Given the description of an element on the screen output the (x, y) to click on. 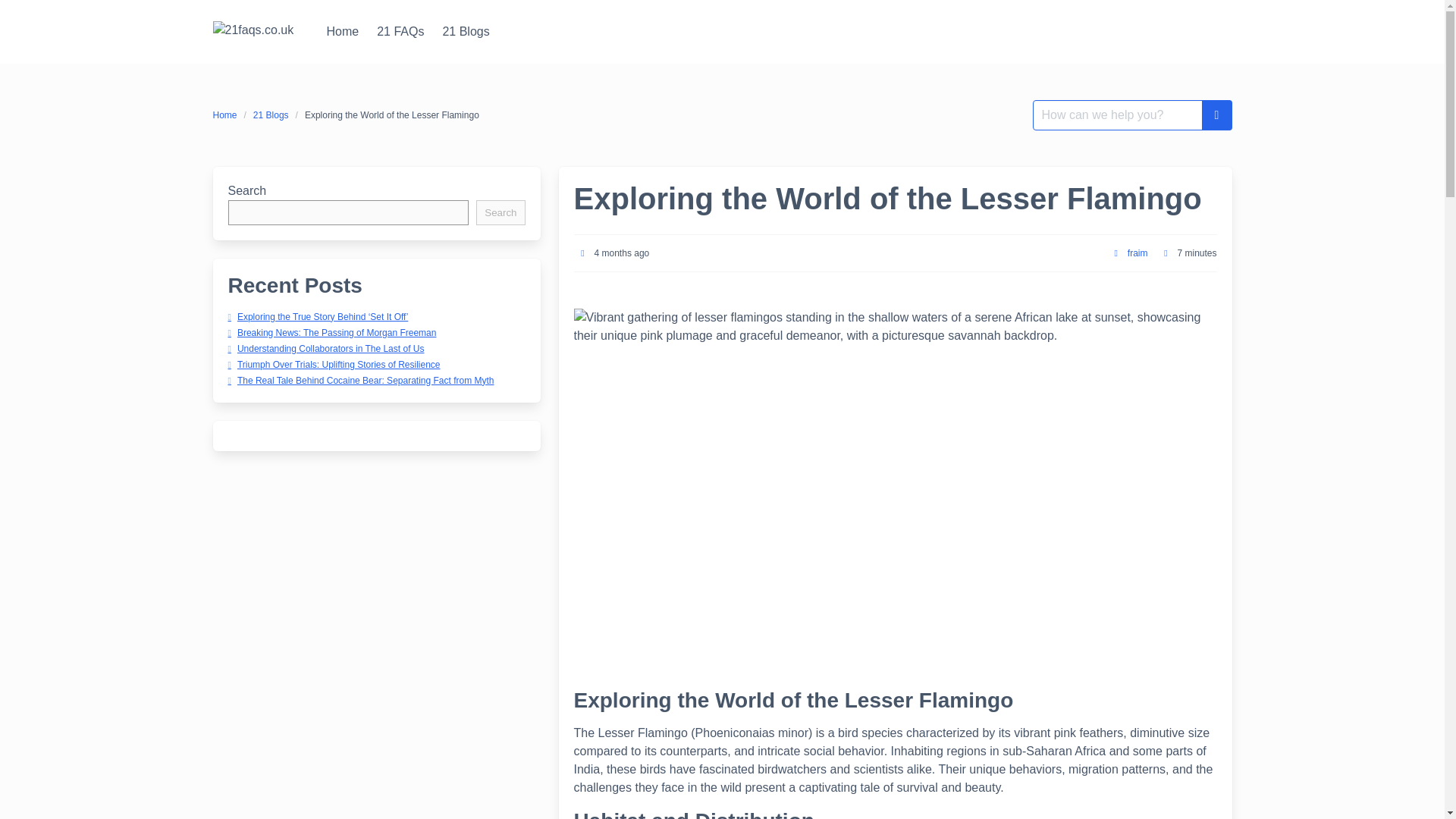
The Real Tale Behind Cocaine Bear: Separating Fact from Myth (360, 379)
21 FAQs (400, 31)
Triumph Over Trials: Uplifting Stories of Resilience (333, 364)
21 Blogs (270, 115)
Home (342, 31)
Breaking News: The Passing of Morgan Freeman (331, 332)
Understanding Collaborators in The Last of Us (325, 347)
Home (227, 115)
Home (342, 31)
21 Blogs (464, 31)
Exploring the World of the Lesser Flamingo (392, 115)
Search (500, 212)
21 Blogs (464, 31)
fraim (1137, 253)
